Given the description of an element on the screen output the (x, y) to click on. 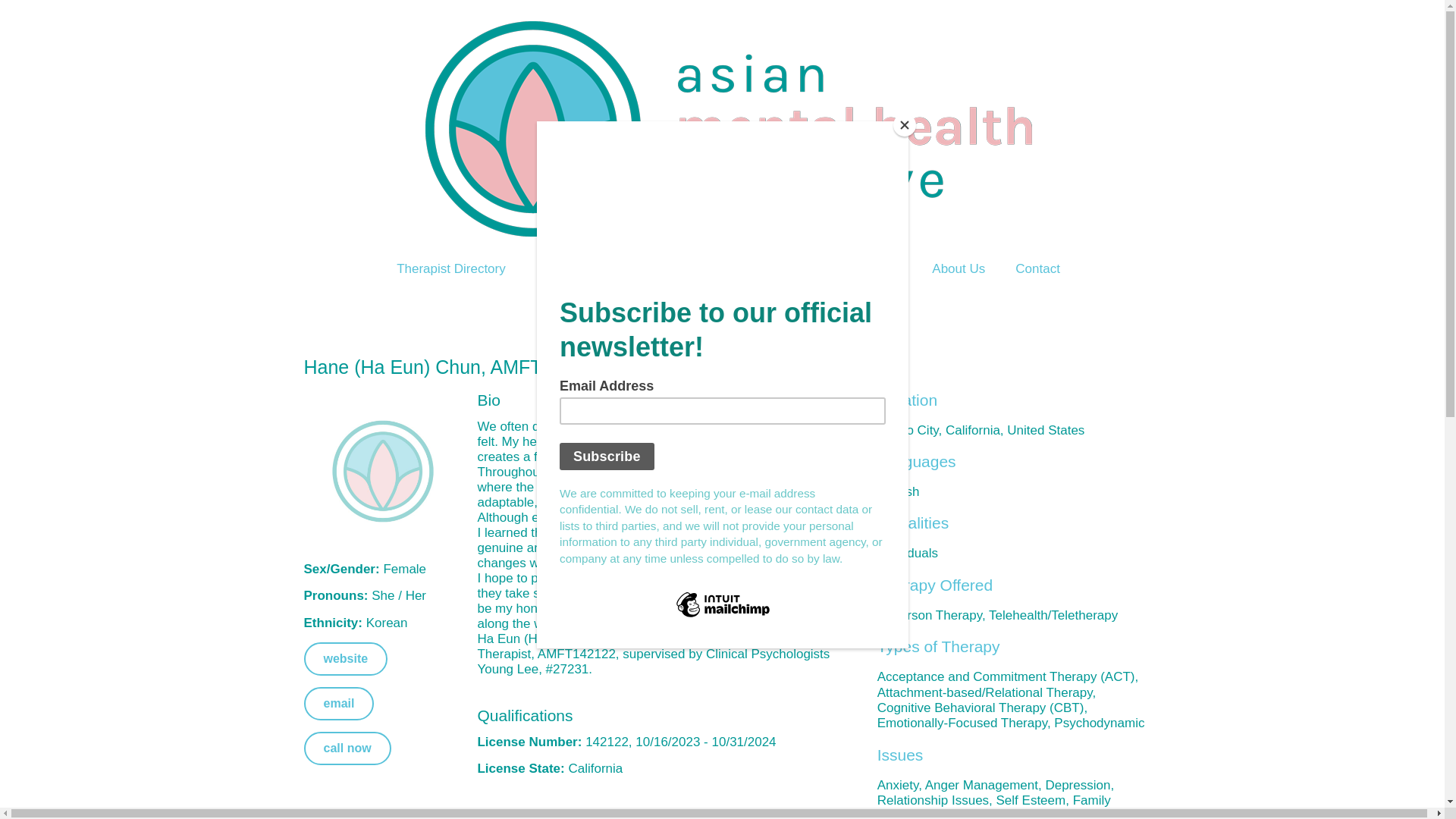
FAQ (888, 268)
Get Involved (717, 268)
Contact (1037, 268)
Lotus Therapy Fund (593, 268)
Resources (814, 268)
About Us (958, 268)
Therapist Directory (451, 268)
